Given the description of an element on the screen output the (x, y) to click on. 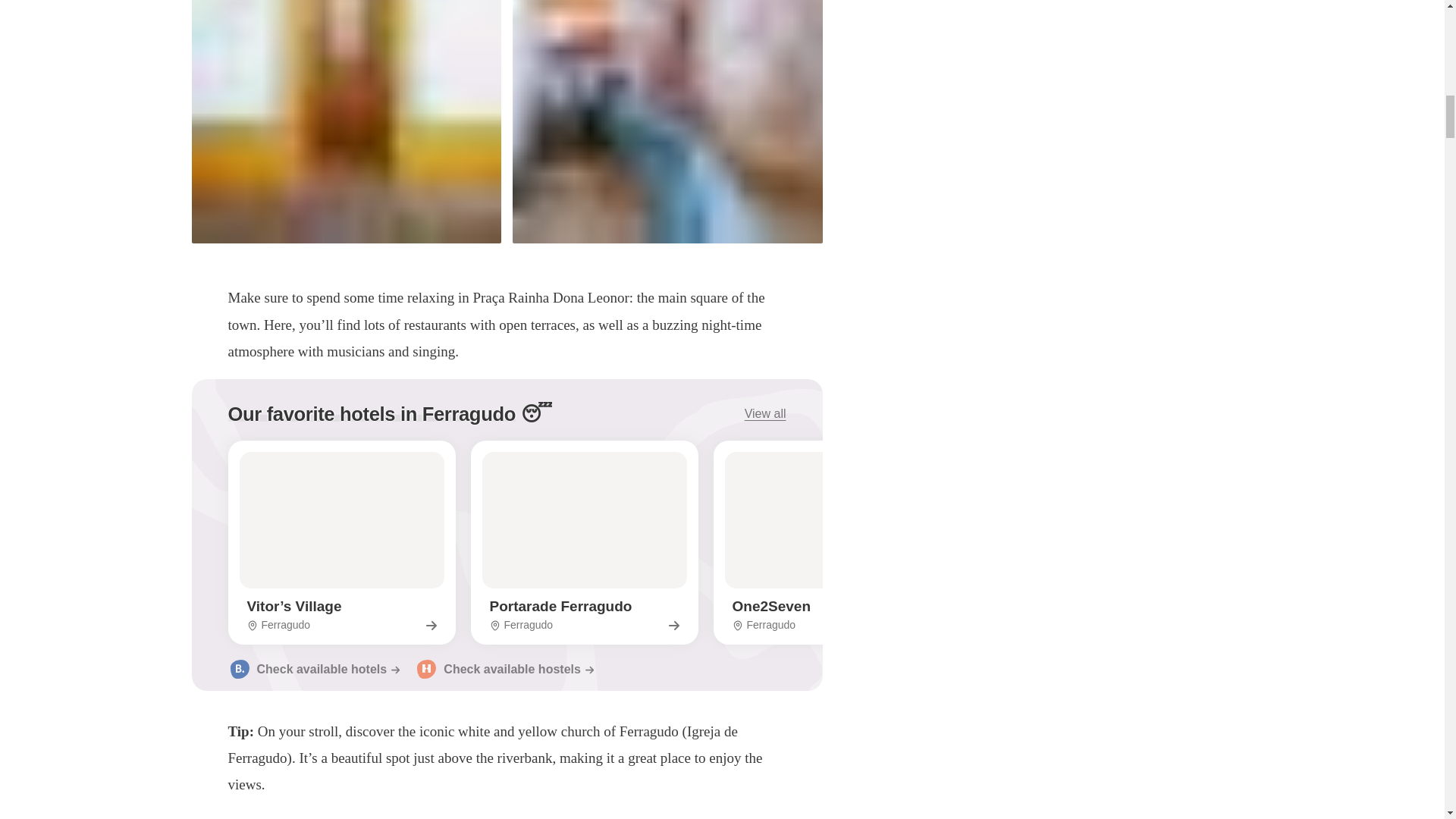
Our favorite hotels in Ferragudo (826, 542)
Check available hostels (371, 414)
View all (504, 669)
Check available hotels (583, 542)
